Given the description of an element on the screen output the (x, y) to click on. 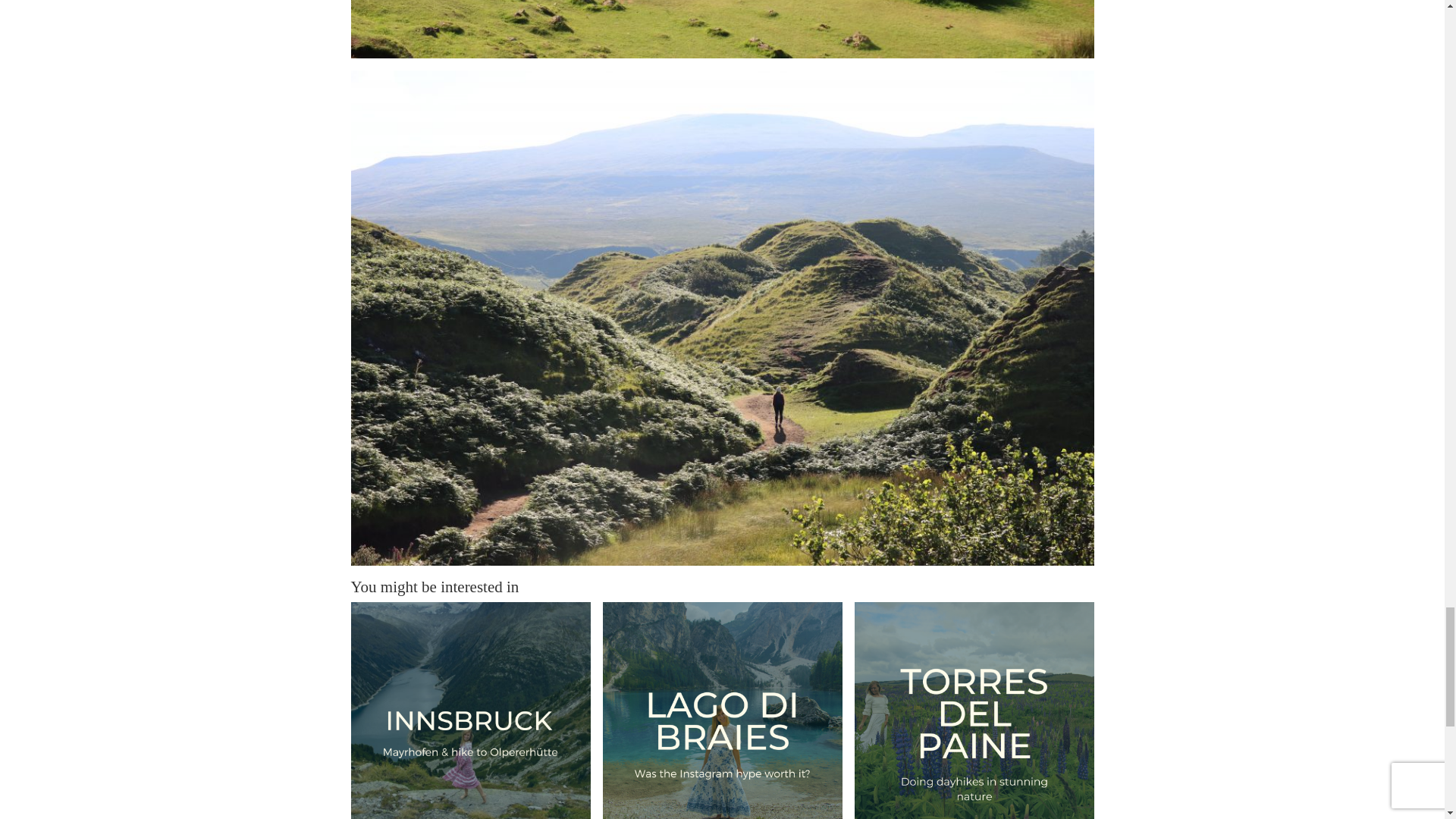
Lago di Braies (721, 710)
Torres del paine 1 (973, 710)
Innsbruck (469, 710)
